Given the description of an element on the screen output the (x, y) to click on. 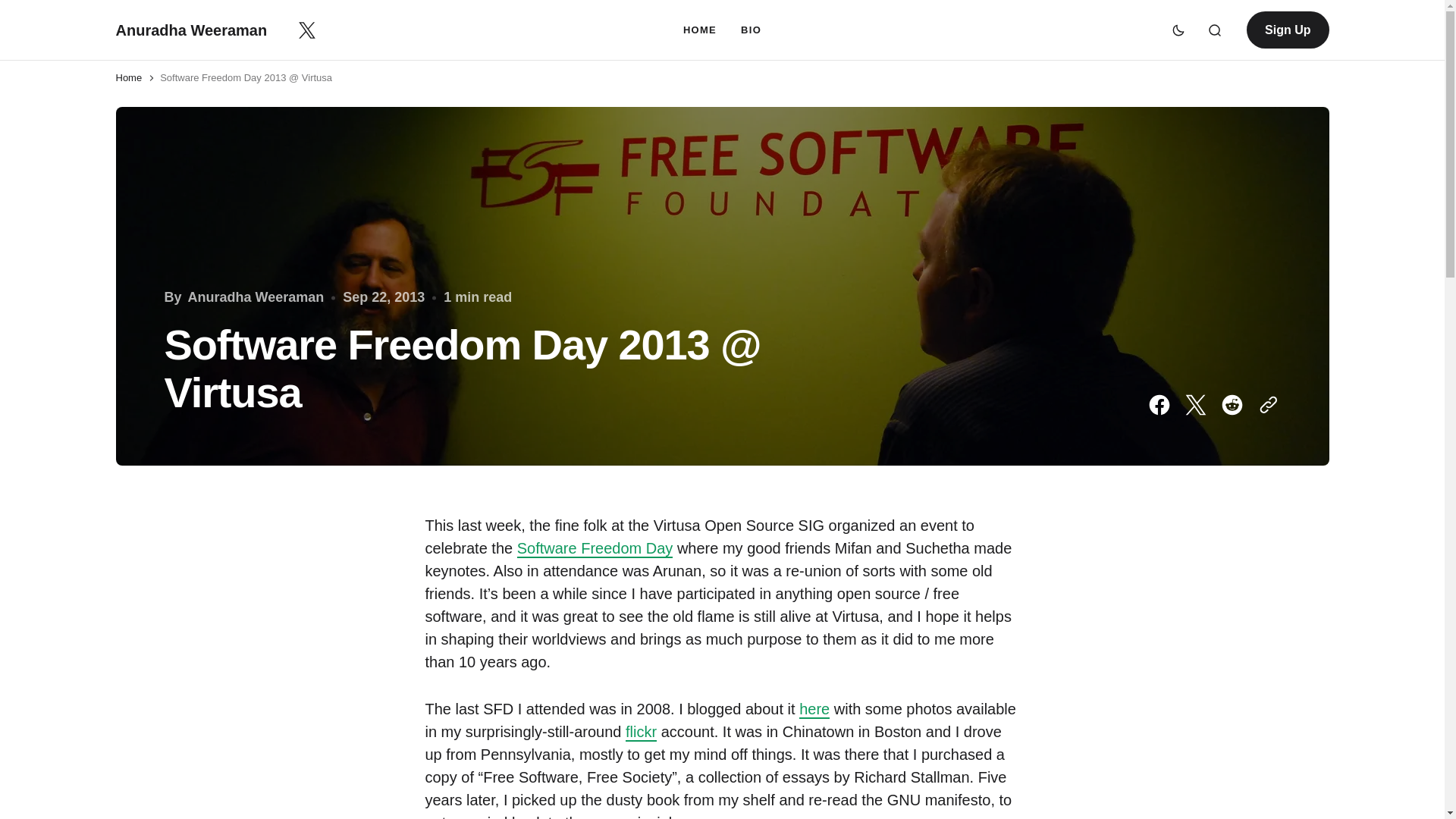
flickr (641, 732)
Sign Up (1286, 29)
here (814, 710)
Software Freedom Day (594, 548)
Anuradha Weeraman (190, 29)
Home (128, 77)
Search button (1214, 30)
Anuradha Weeraman (255, 297)
